Given the description of an element on the screen output the (x, y) to click on. 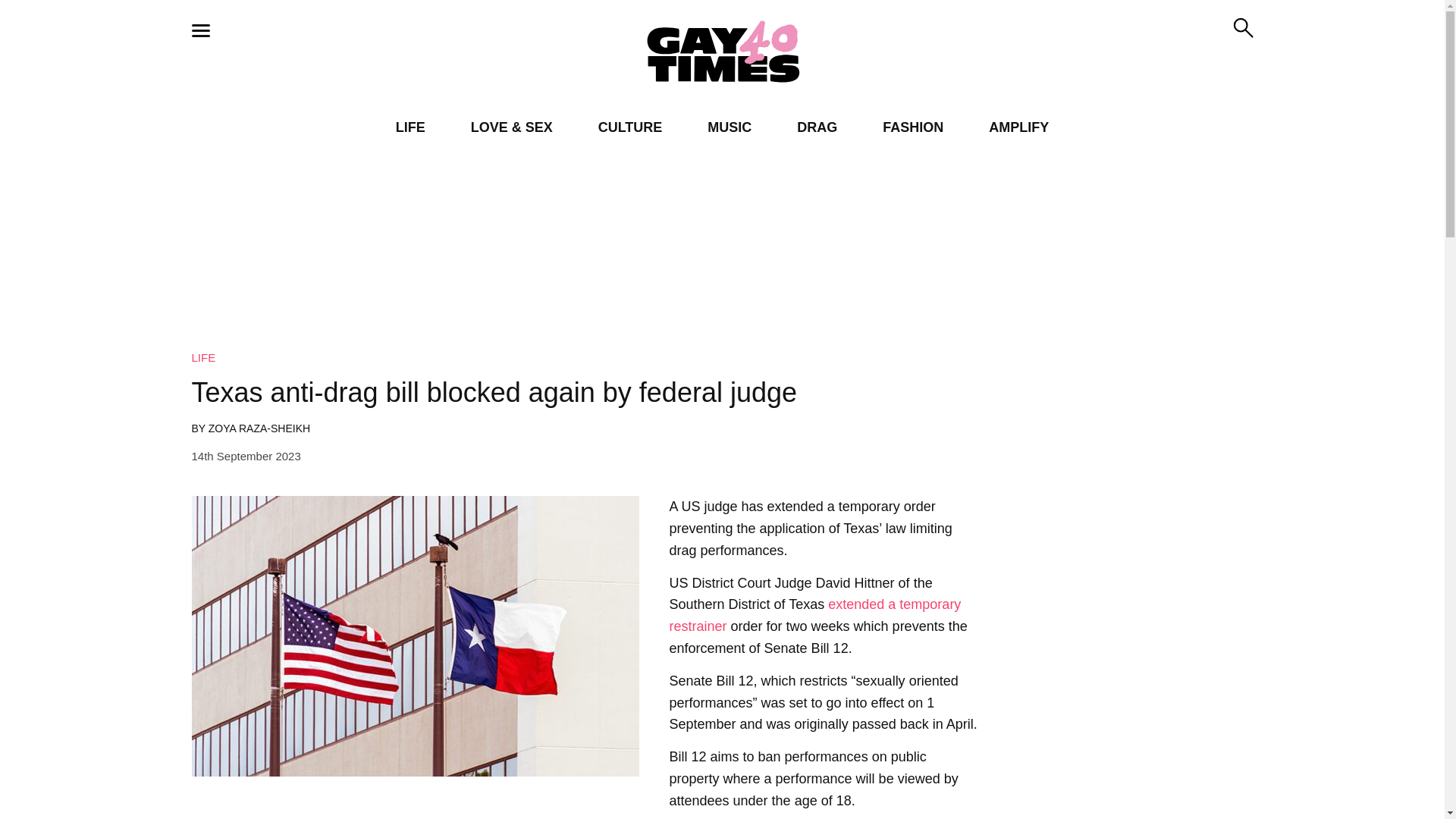
FASHION (912, 127)
MUSIC (729, 127)
LIFE (202, 357)
AMPLIFY (1018, 127)
CULTURE (630, 127)
LIFE (410, 127)
ZOYA RAZA-SHEIKH (259, 428)
DRAG (816, 127)
